Given the description of an element on the screen output the (x, y) to click on. 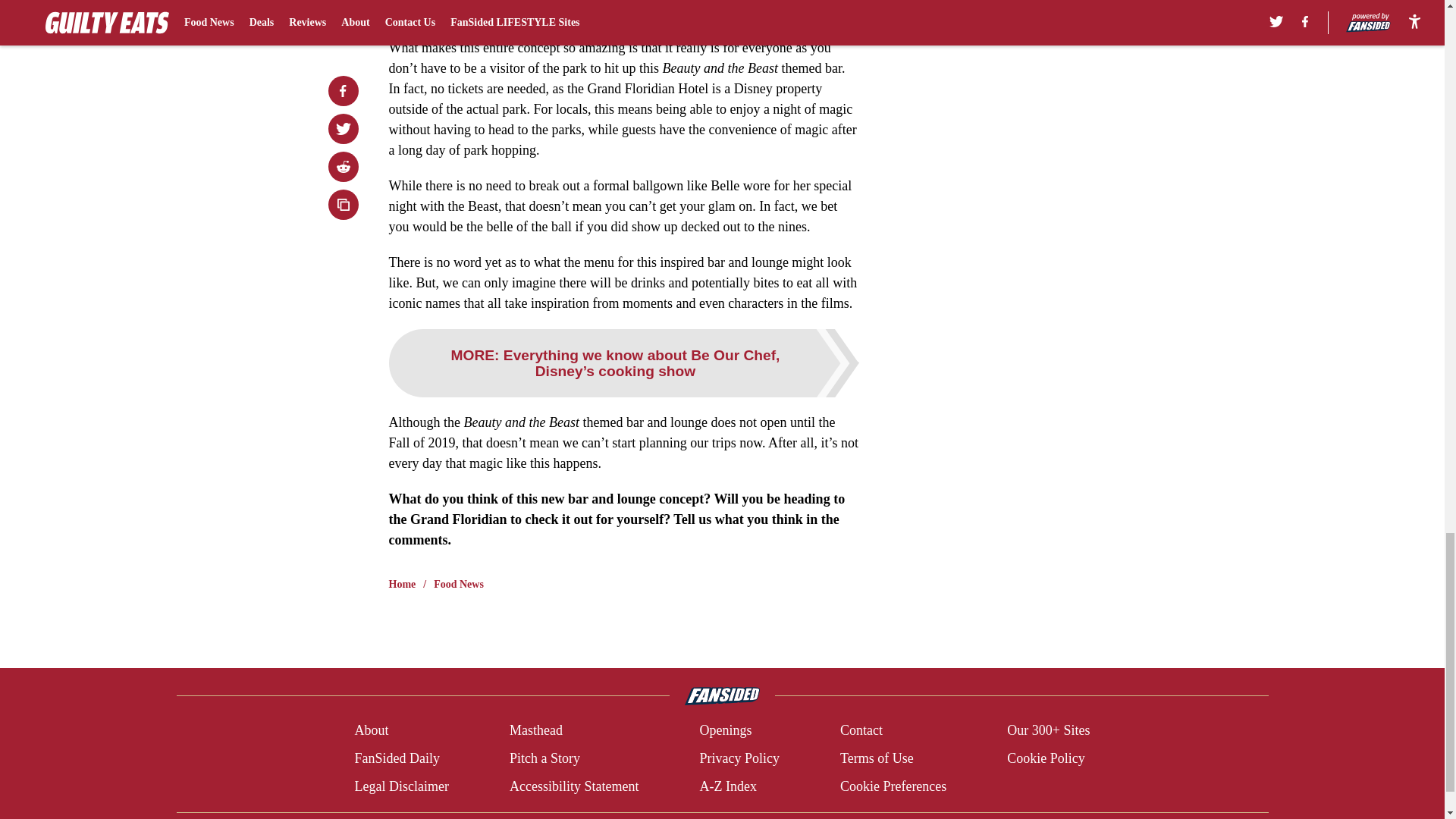
Openings (724, 730)
FanSided Daily (396, 758)
About (370, 730)
Pitch a Story (544, 758)
Terms of Use (877, 758)
Cookie Policy (1045, 758)
Masthead (535, 730)
Accessibility Statement (574, 786)
Food News (458, 584)
